Given the description of an element on the screen output the (x, y) to click on. 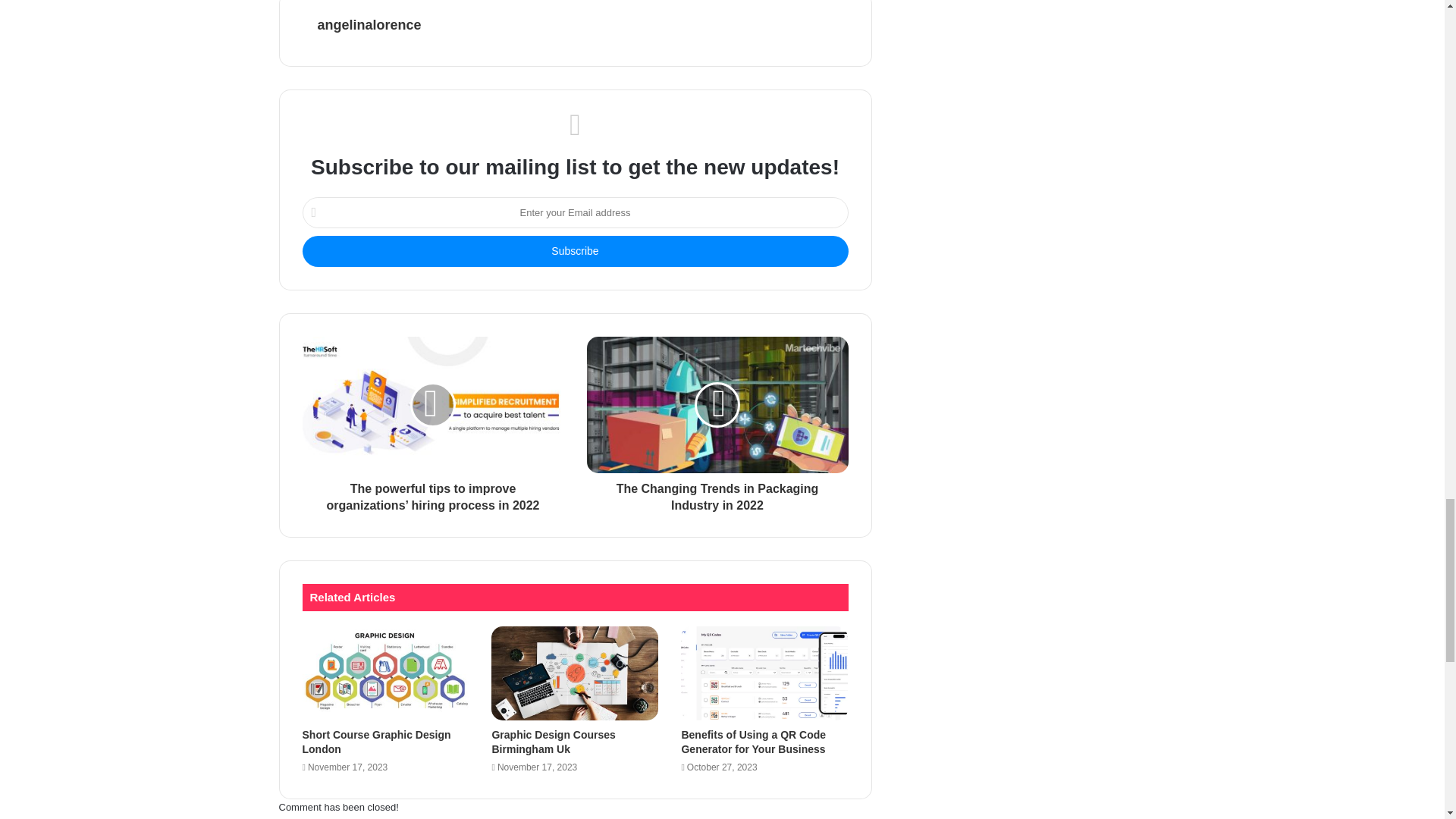
Subscribe (574, 250)
